Given the description of an element on the screen output the (x, y) to click on. 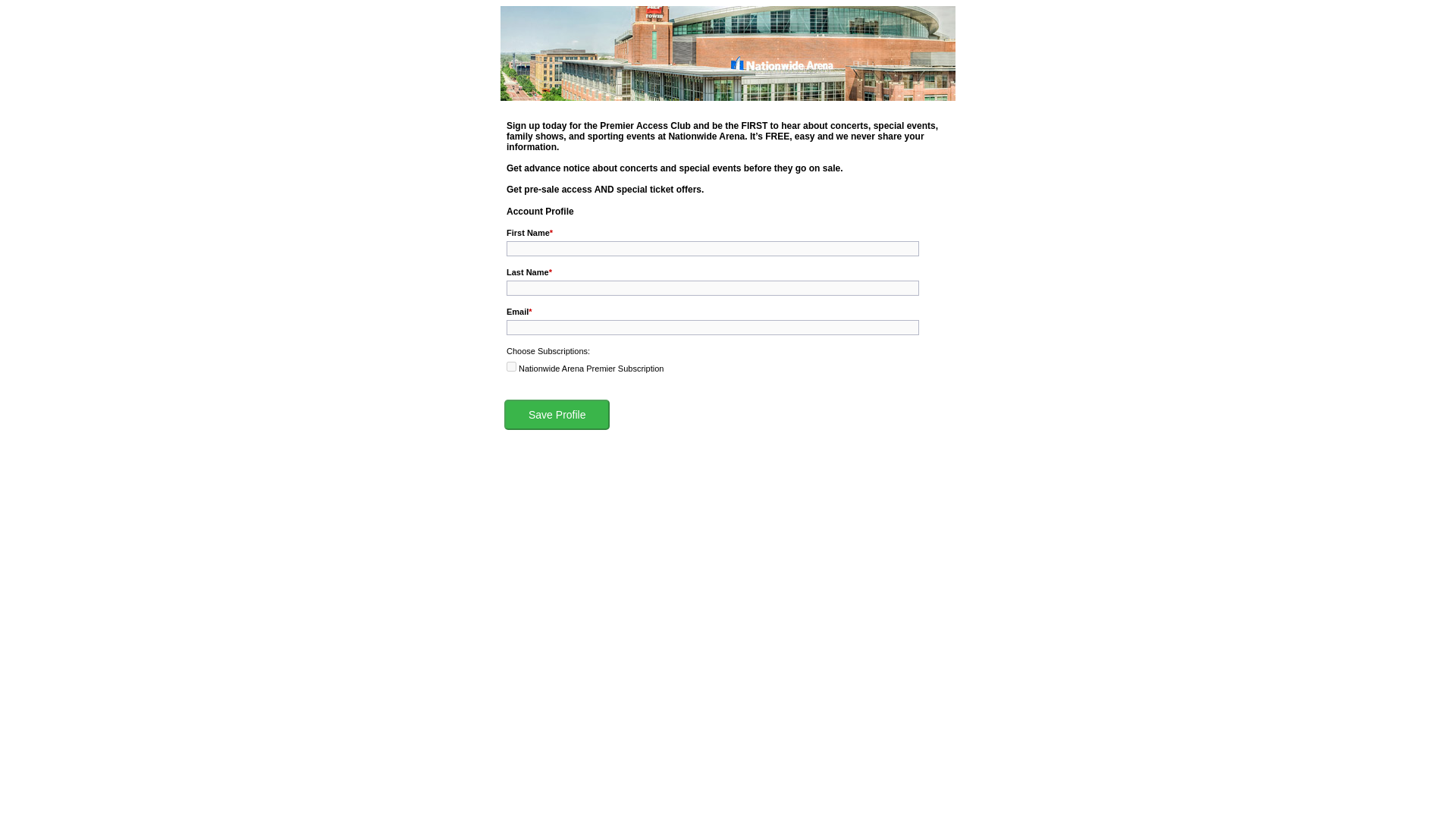
970267 (511, 366)
Save Profile (556, 414)
Save Profile (556, 414)
